Given the description of an element on the screen output the (x, y) to click on. 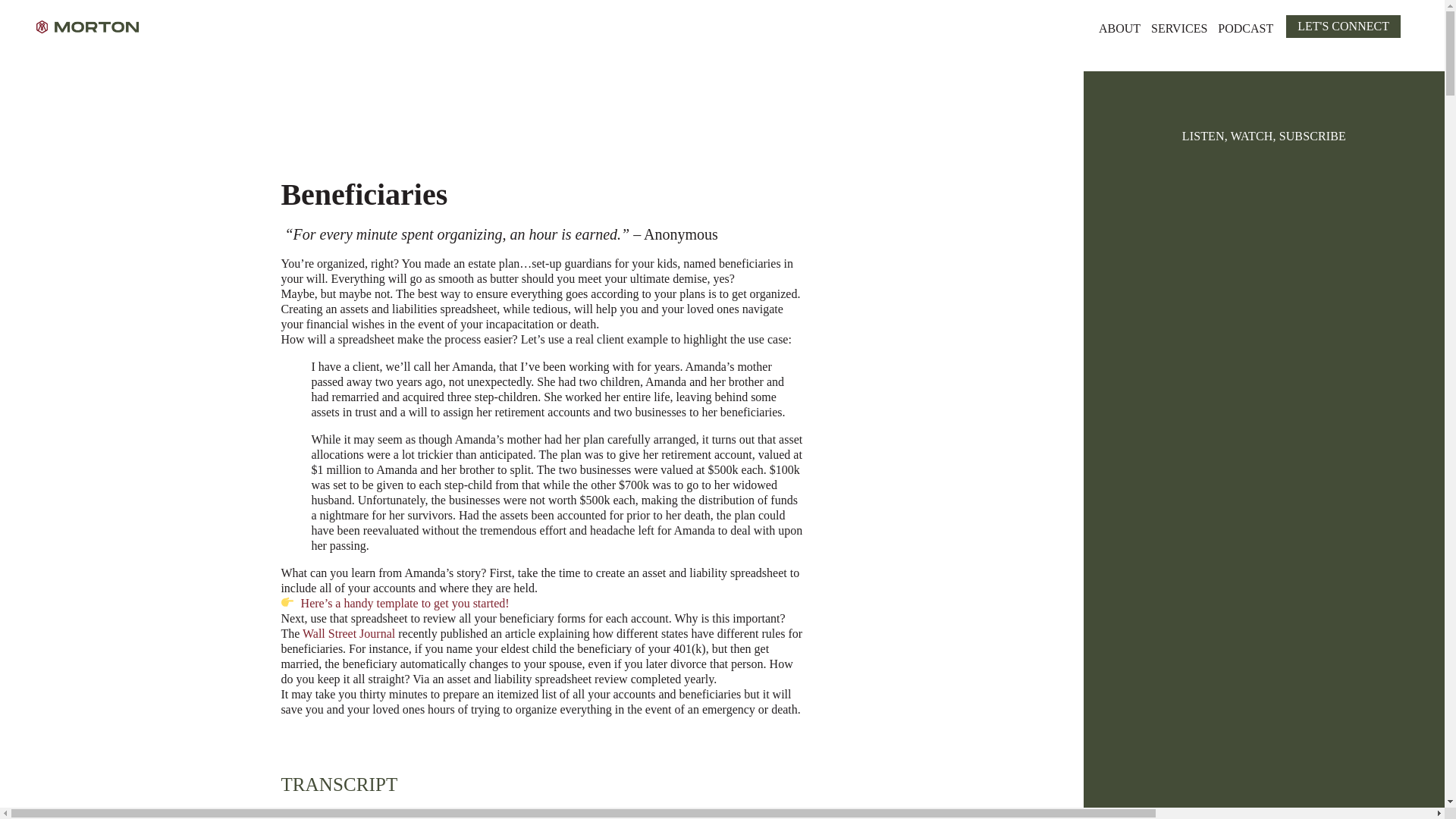
ABOUT (1119, 26)
LET'S CONNECT (1342, 26)
SERVICES (1178, 26)
PODCAST (1245, 26)
Wall Street Journal (348, 633)
